Given the description of an element on the screen output the (x, y) to click on. 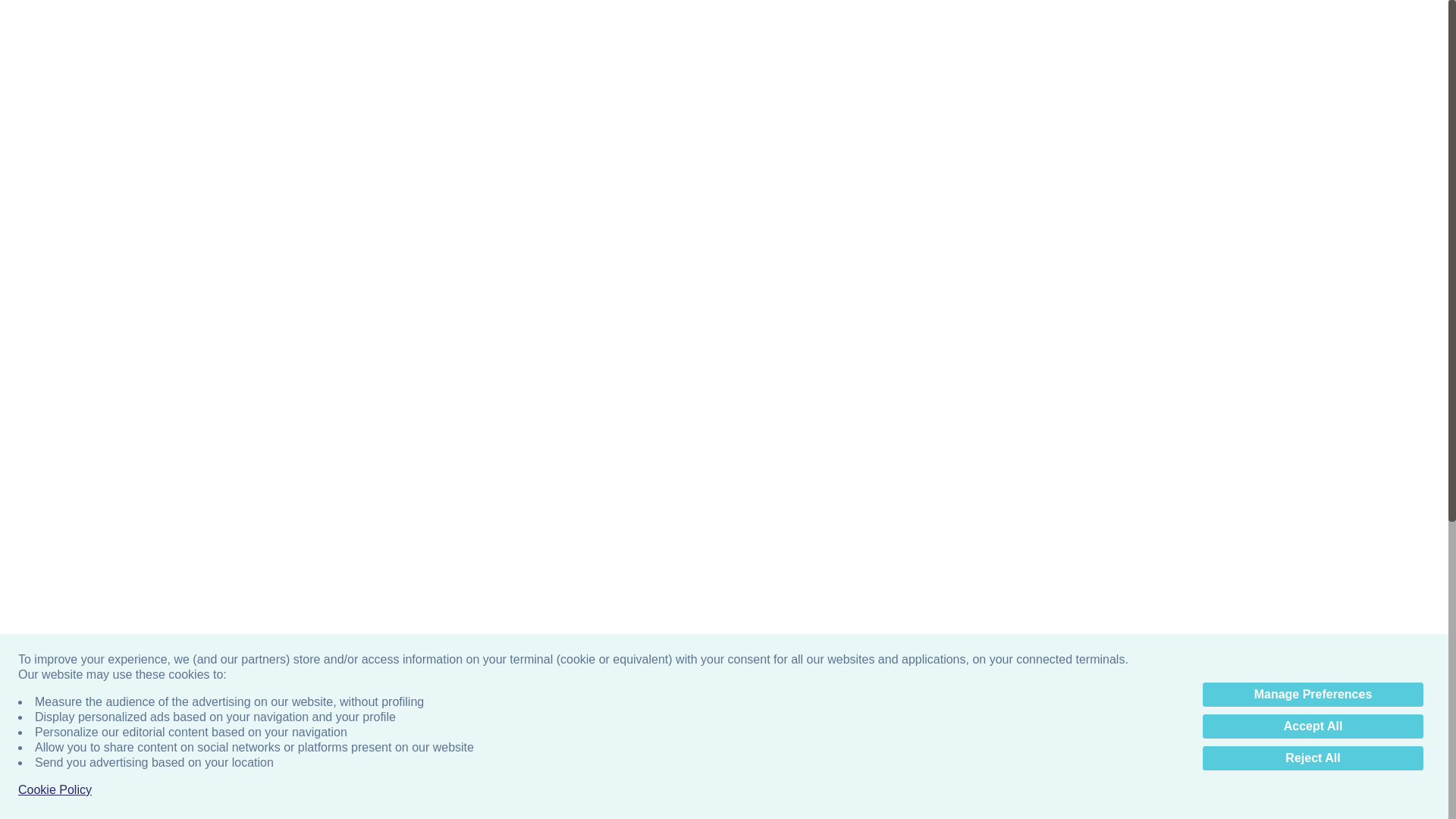
Reject All (1312, 758)
Accept All (1312, 726)
Cookie Policy (54, 789)
Manage Preferences (1312, 694)
